Given the description of an element on the screen output the (x, y) to click on. 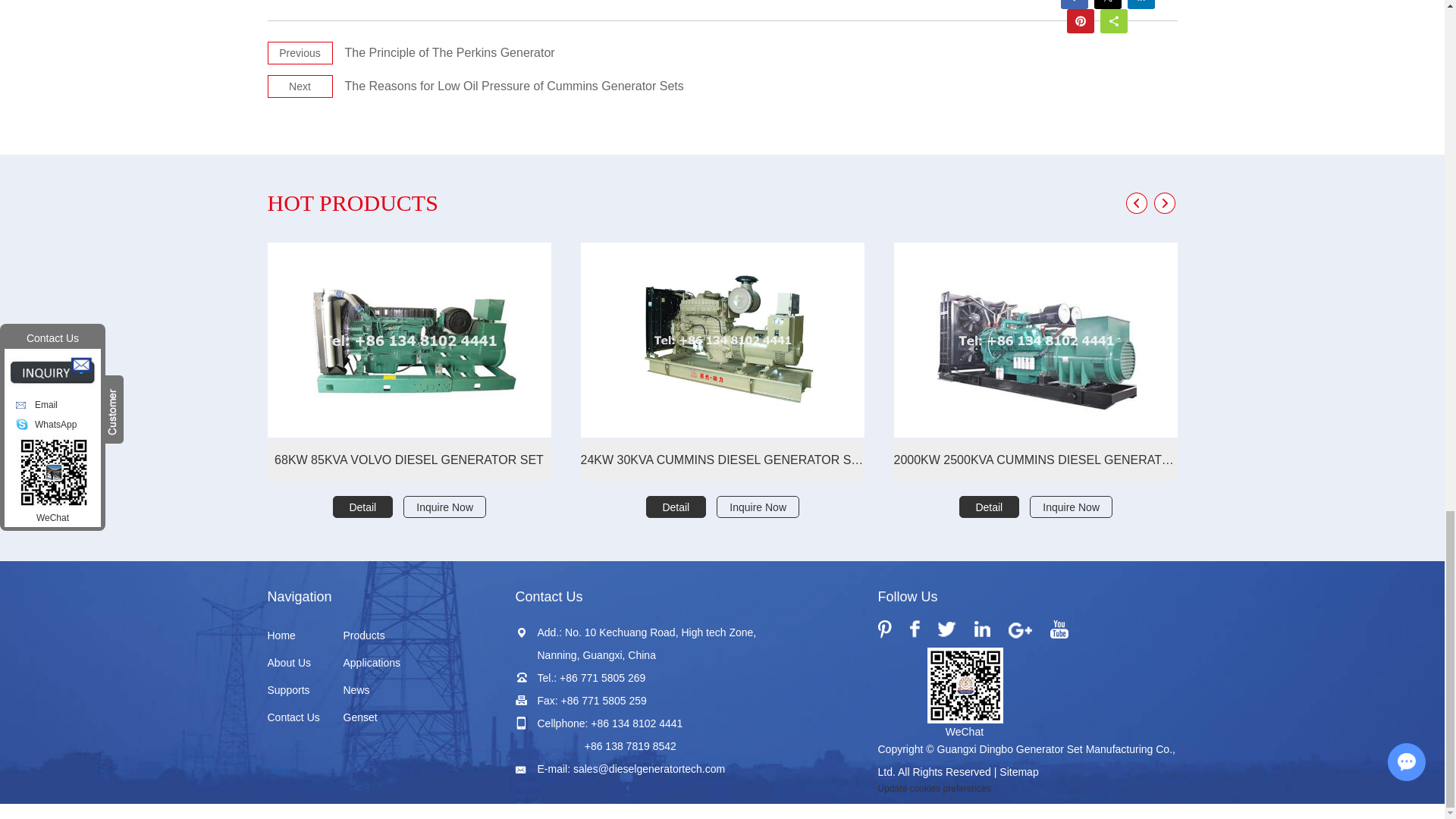
68KW 85KVA Volvo Diesel Generator Set (408, 339)
68KW 85KVA Volvo Diesel Generator Set (408, 459)
24KW 30KVA Cummins Diesel Generator Set (722, 339)
